Given the description of an element on the screen output the (x, y) to click on. 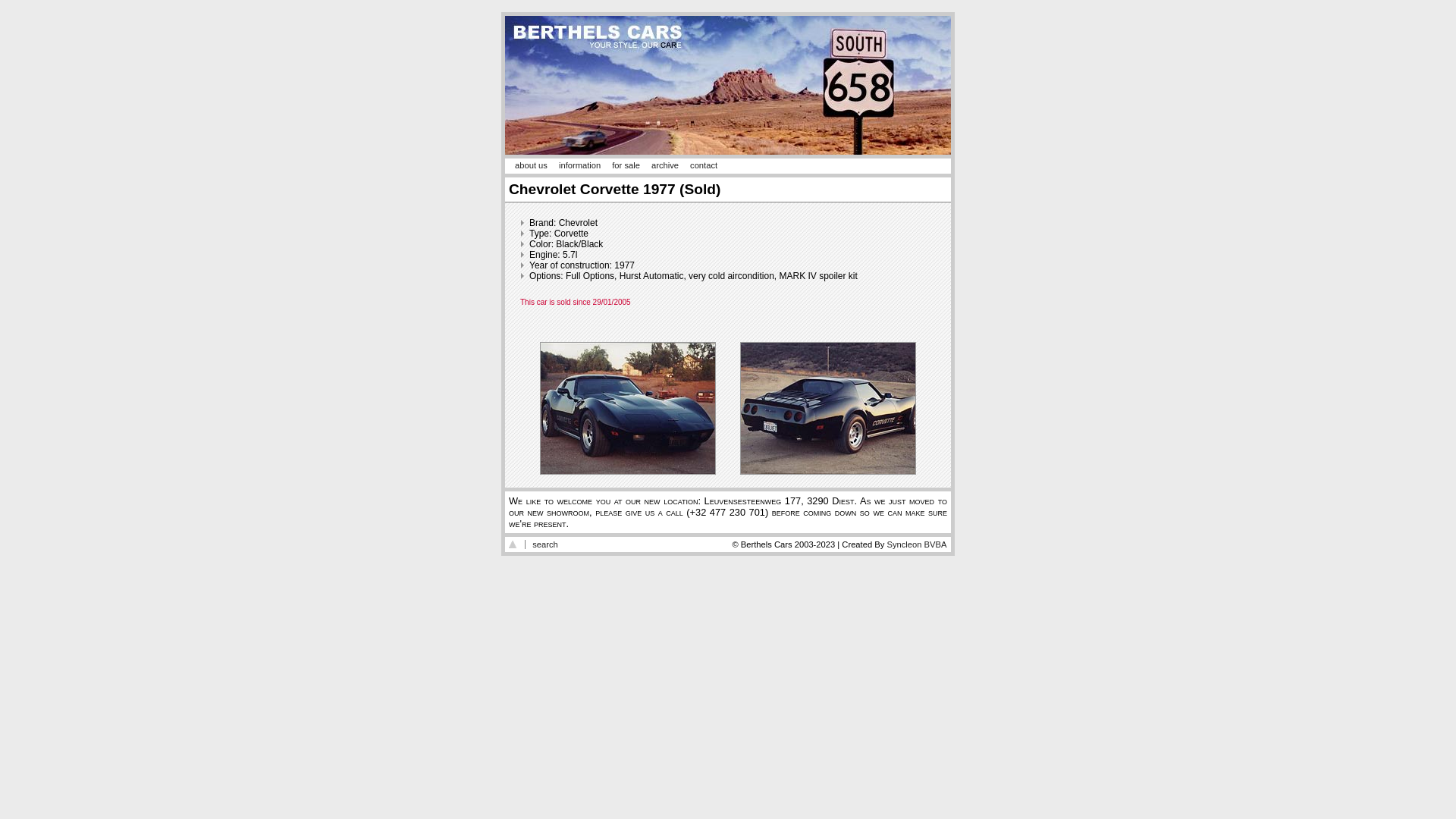
archive Element type: text (664, 164)
information Element type: text (579, 164)
about us Element type: text (530, 164)
search Element type: text (545, 544)
Syncleon BVBA Element type: text (916, 544)
contact Element type: text (703, 164)
Go to the top of the page Element type: hover (512, 544)
for sale Element type: text (625, 164)
